Given the description of an element on the screen output the (x, y) to click on. 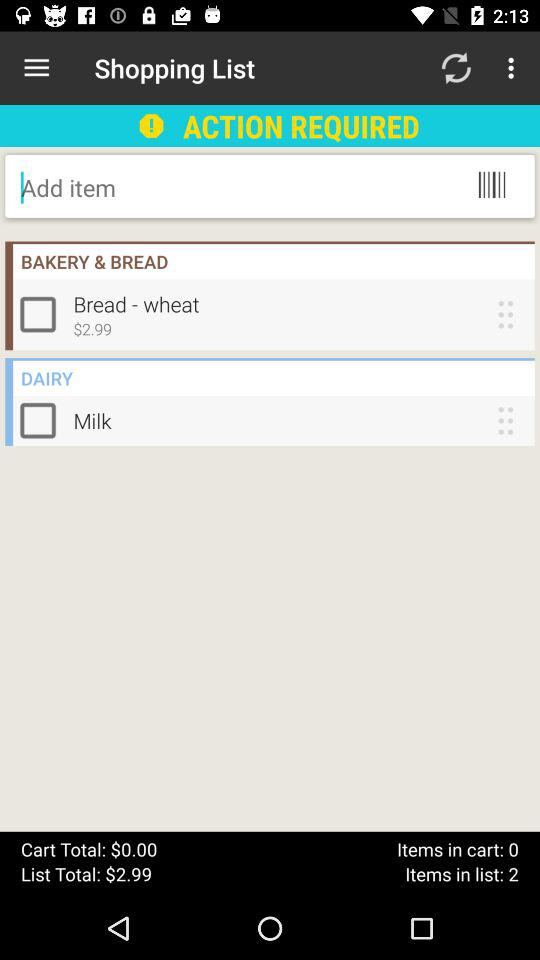
select icon to the right of action required item (455, 67)
